Given the description of an element on the screen output the (x, y) to click on. 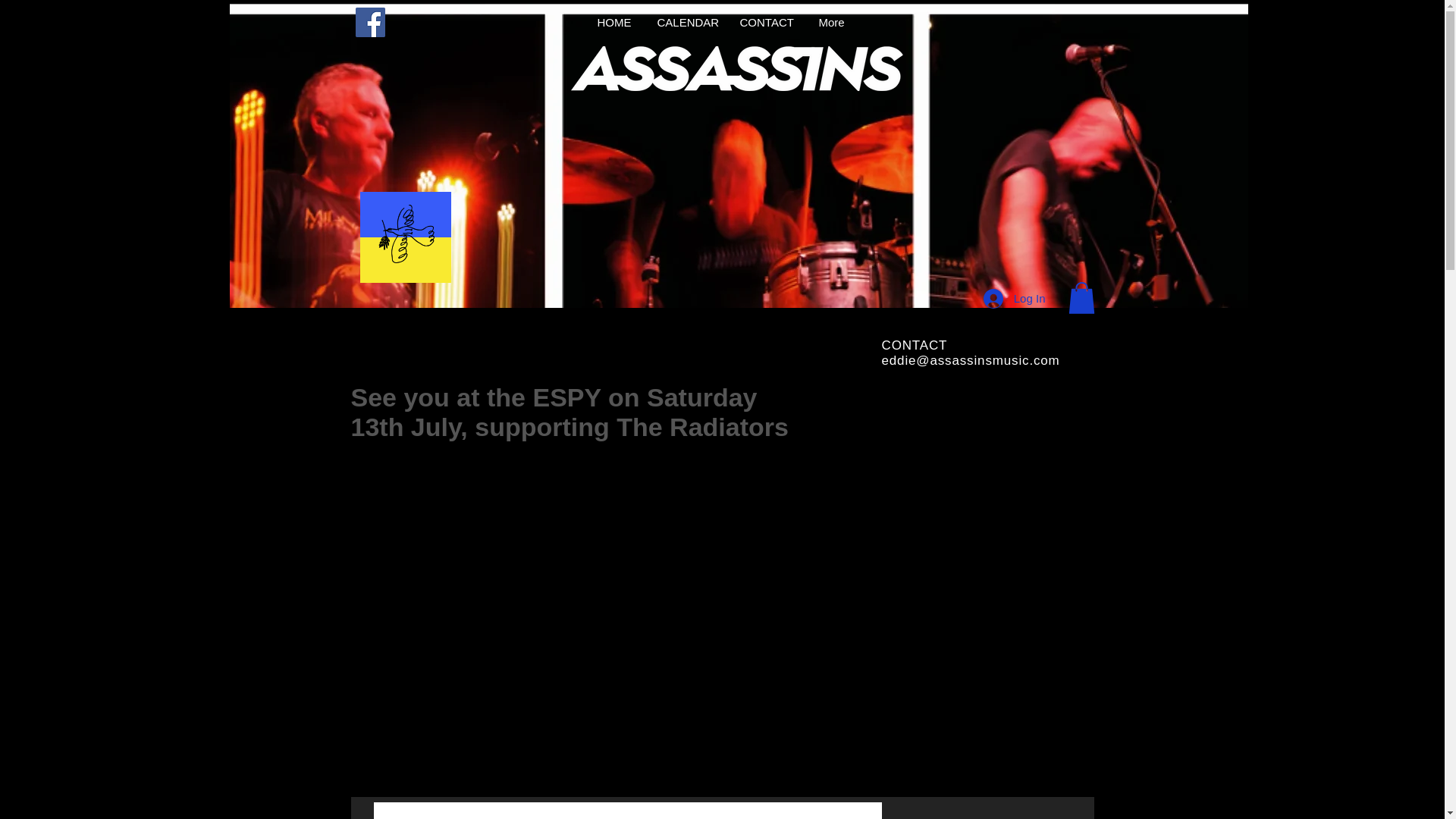
Facebook Like (379, 67)
CONTACT (767, 22)
HOME (615, 22)
Log In (1014, 297)
CALENDAR (687, 22)
